Given the description of an element on the screen output the (x, y) to click on. 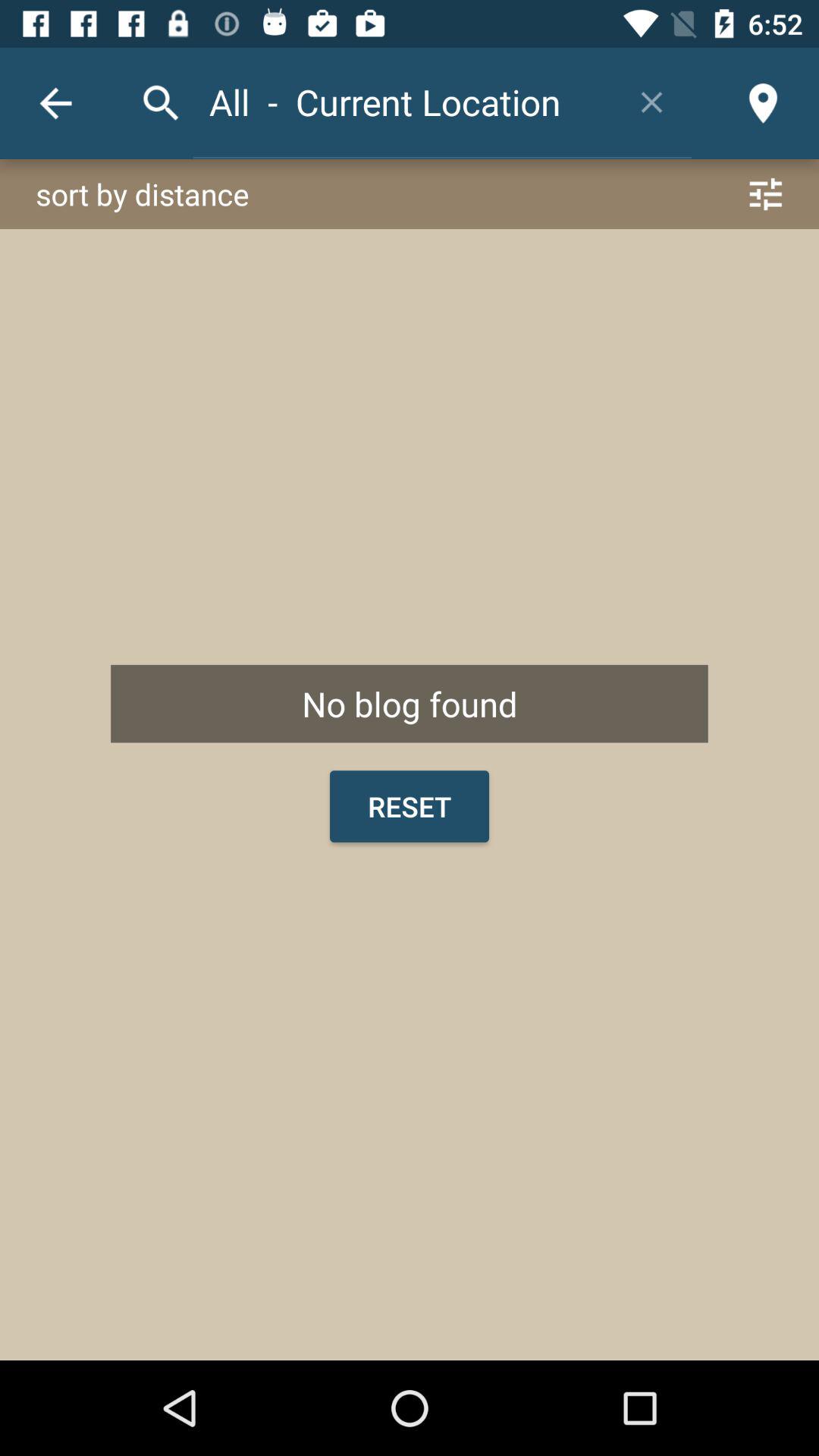
choose the all  -  current location item (402, 102)
